Given the description of an element on the screen output the (x, y) to click on. 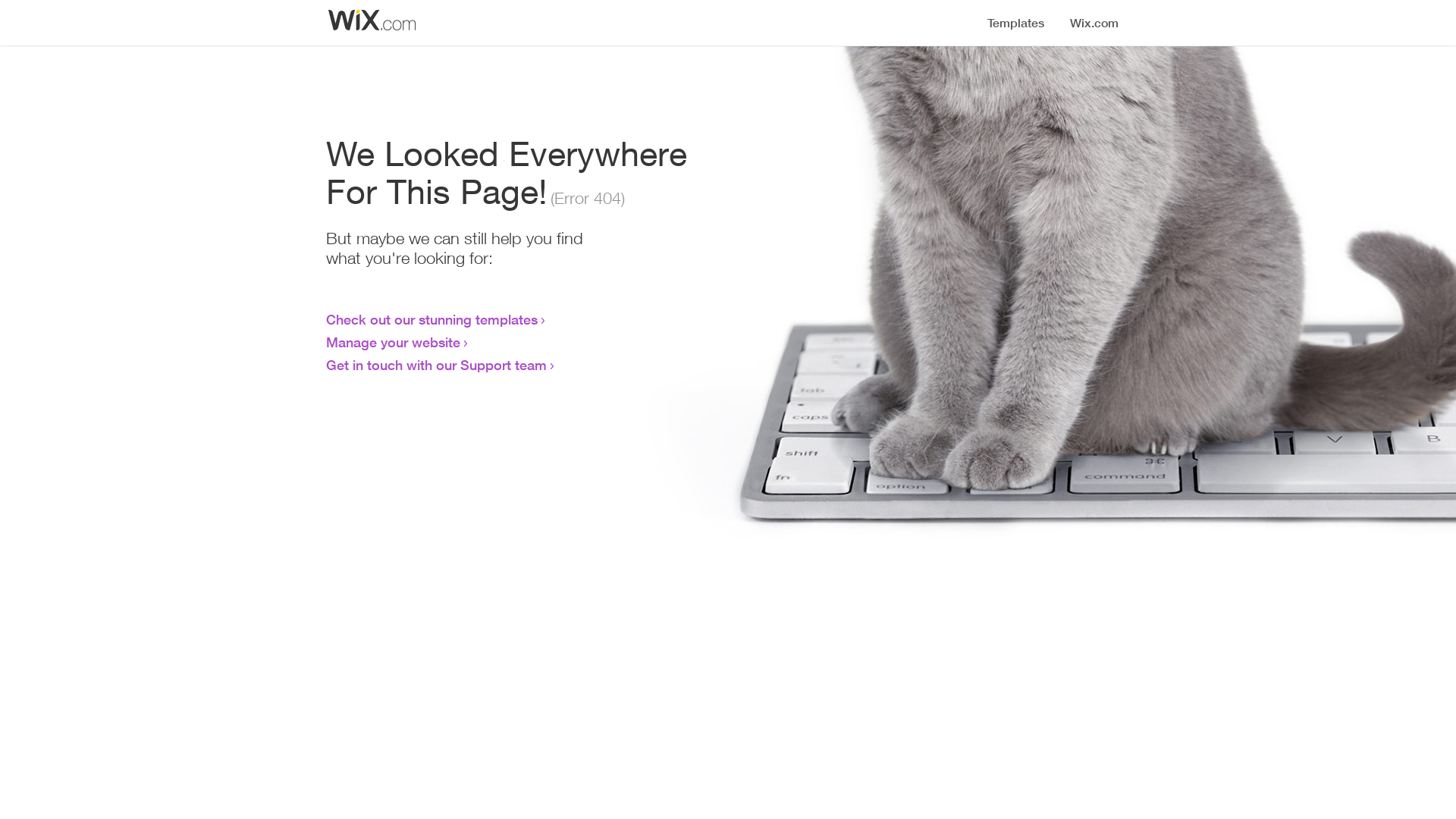
Check out our stunning templates Element type: text (431, 318)
Get in touch with our Support team Element type: text (436, 364)
Manage your website Element type: text (393, 341)
